Given the description of an element on the screen output the (x, y) to click on. 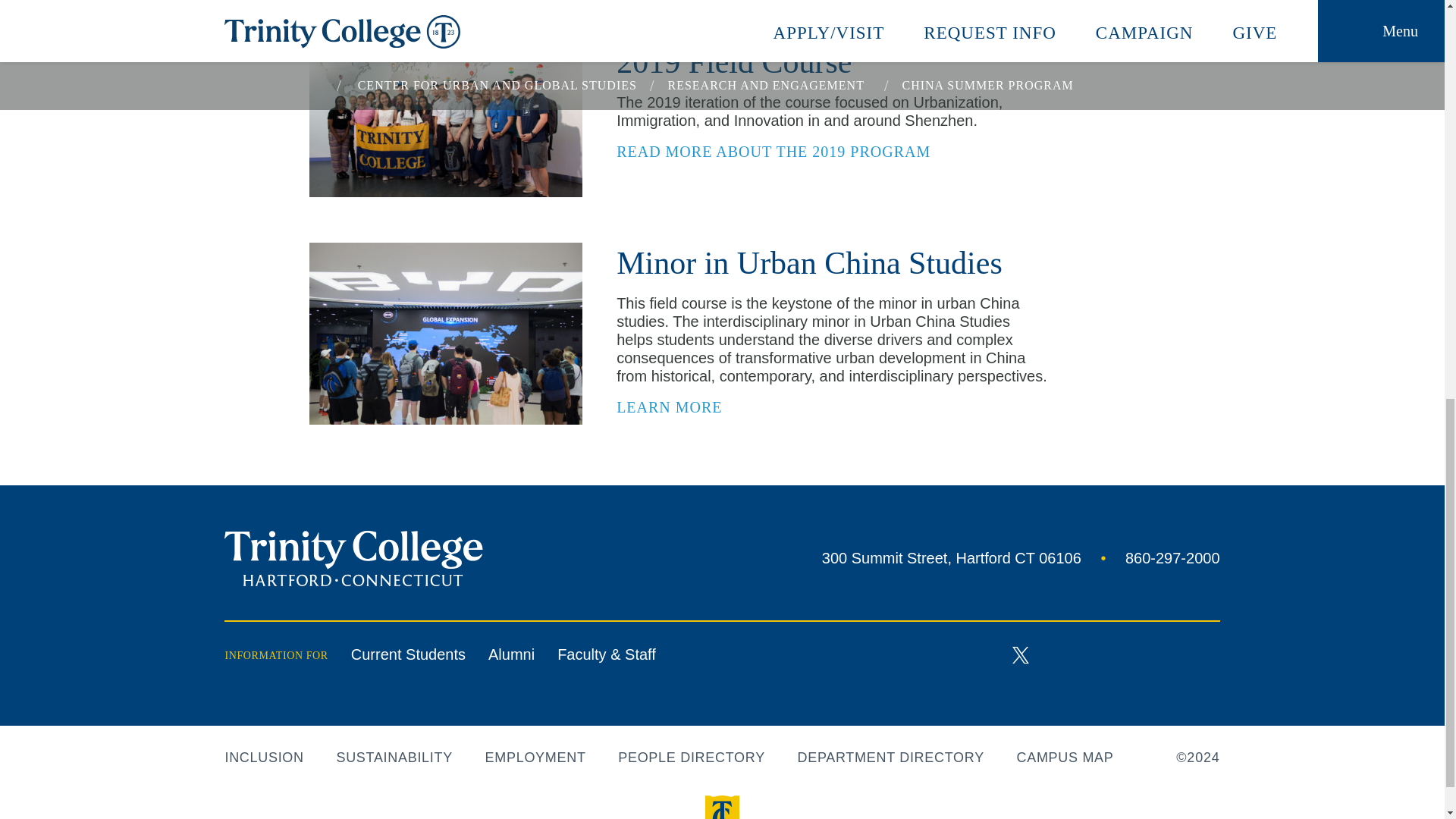
facebook (973, 655)
linkedin (1116, 655)
Current Students (408, 654)
youtube (1067, 654)
Alumni (511, 654)
twitter (954, 557)
860-297-2000 (1020, 654)
LEARN MORE (1152, 557)
READ MORE ABOUT THE 2019 PROGRAM (677, 407)
